Given the description of an element on the screen output the (x, y) to click on. 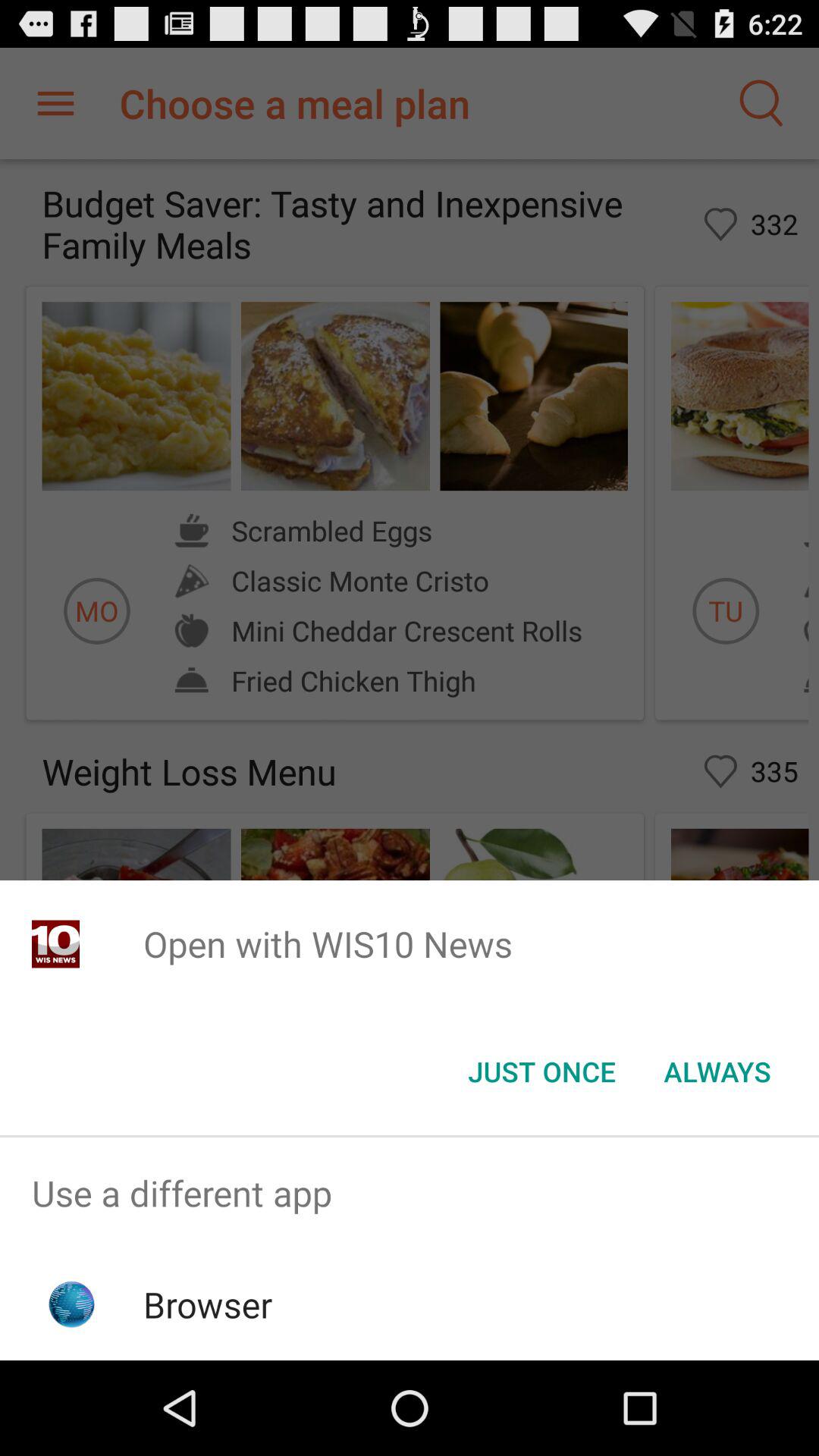
jump to browser icon (207, 1304)
